Given the description of an element on the screen output the (x, y) to click on. 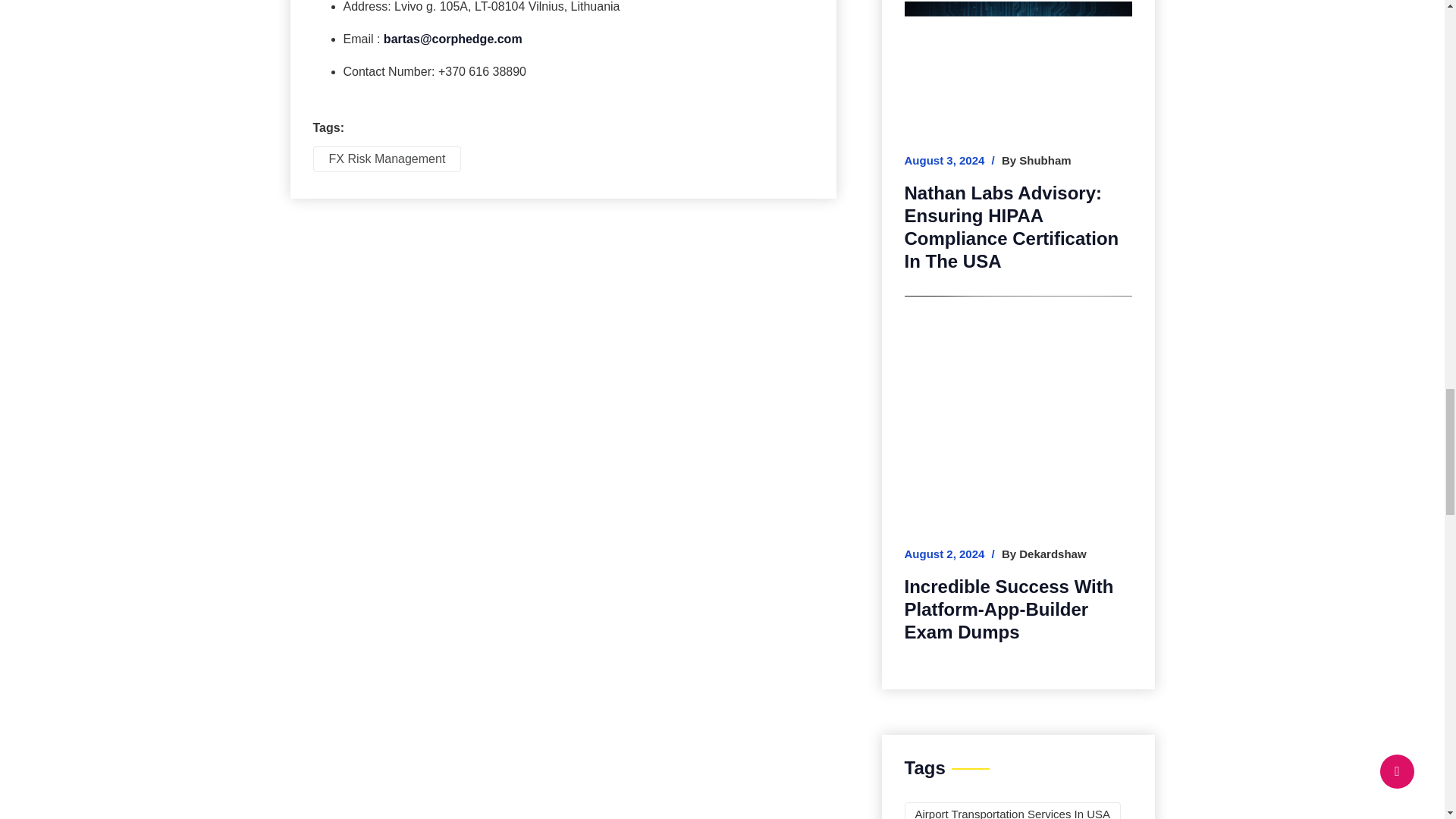
Incredible Success with Platform-App-Builder Exam Dumps 5 (1018, 406)
FX Risk Management (387, 158)
